Given the description of an element on the screen output the (x, y) to click on. 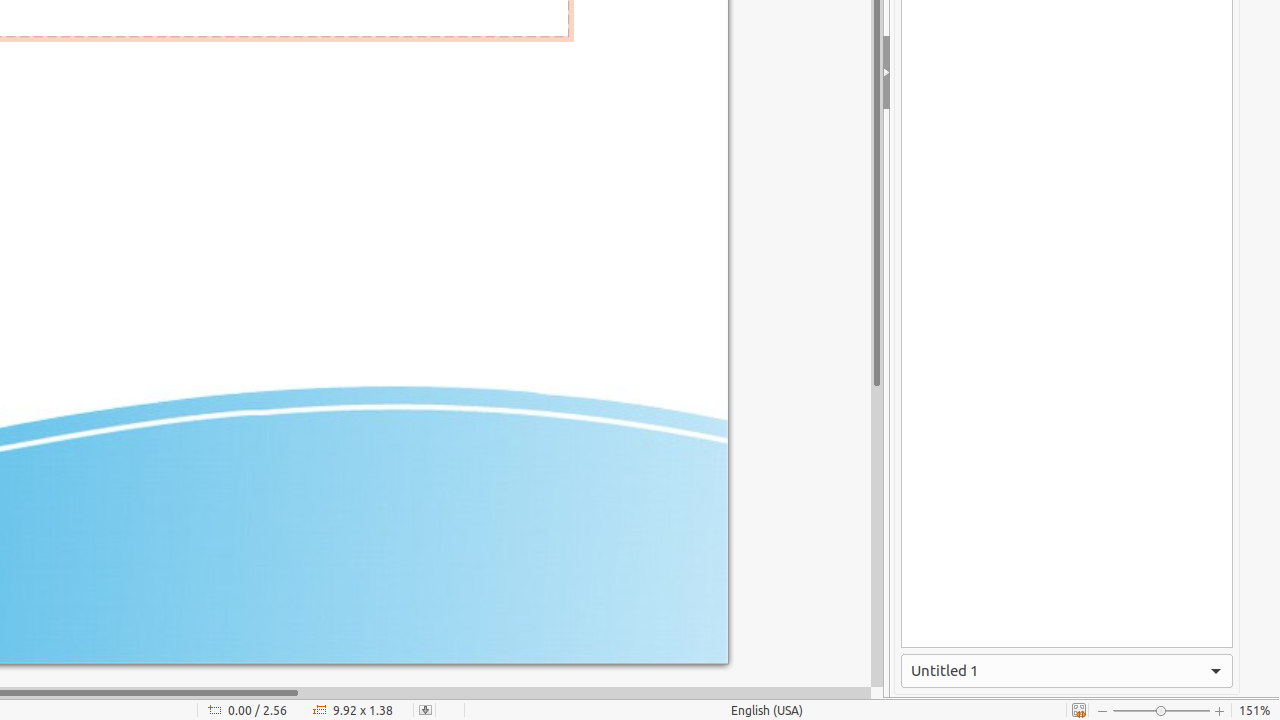
Active Window Element type: combo-box (1067, 671)
